Given the description of an element on the screen output the (x, y) to click on. 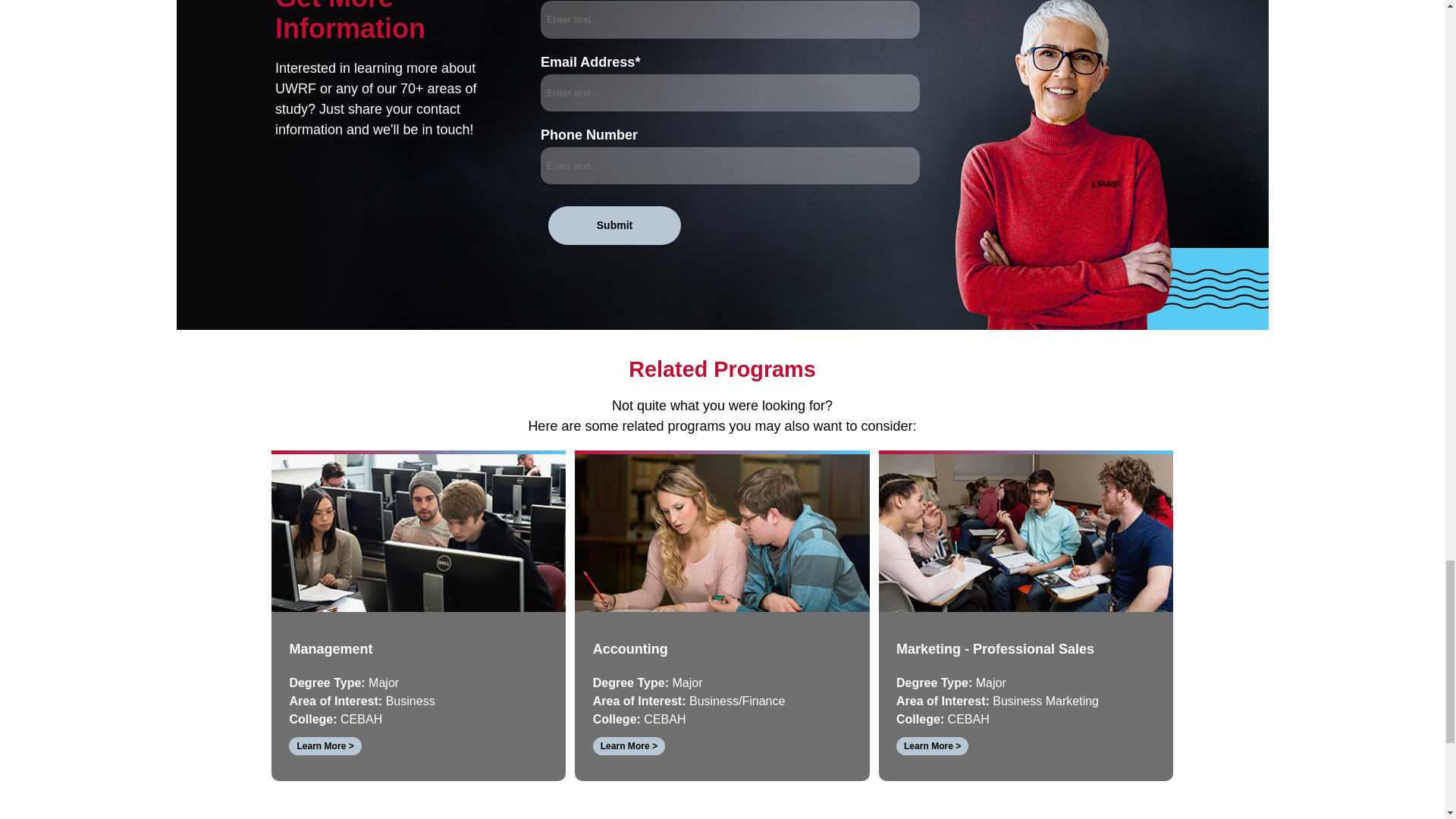
Submit (614, 225)
